Given the description of an element on the screen output the (x, y) to click on. 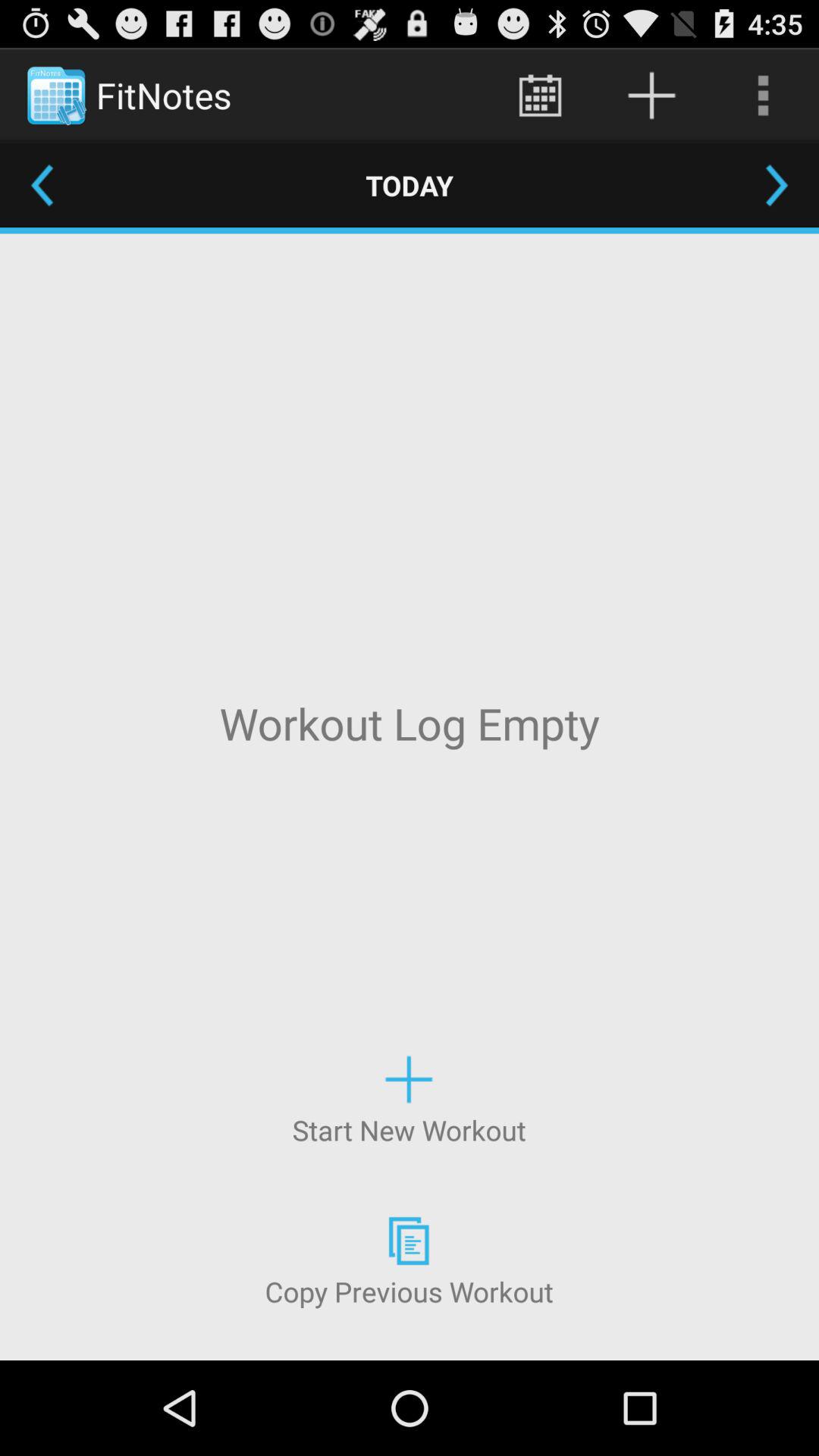
swipe until the copy previous workout app (408, 1259)
